Given the description of an element on the screen output the (x, y) to click on. 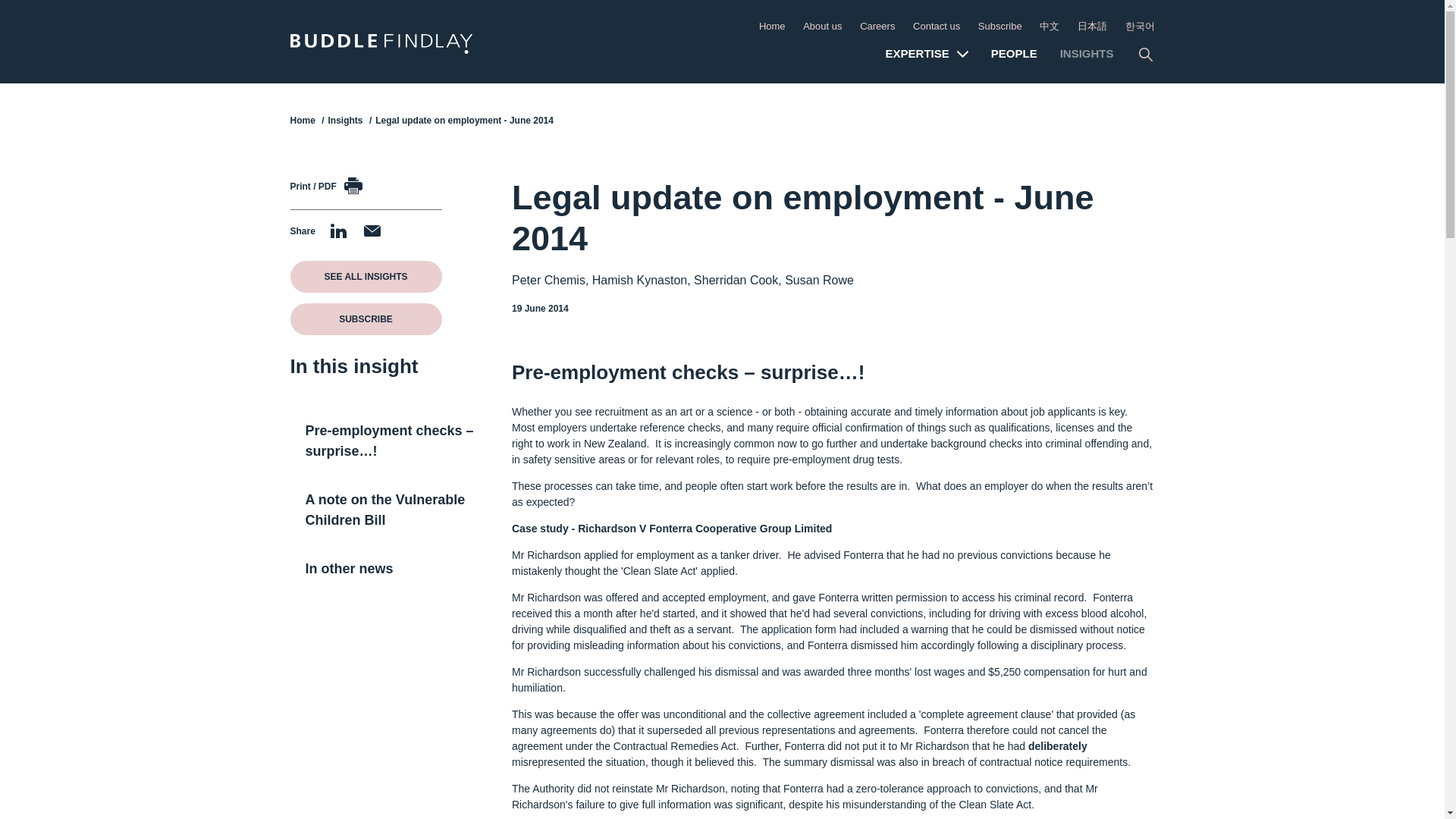
Subscribe (1000, 25)
Contact us (935, 25)
Home (772, 25)
Careers (877, 25)
EXPERTISE (926, 54)
About us (822, 25)
